Given the description of an element on the screen output the (x, y) to click on. 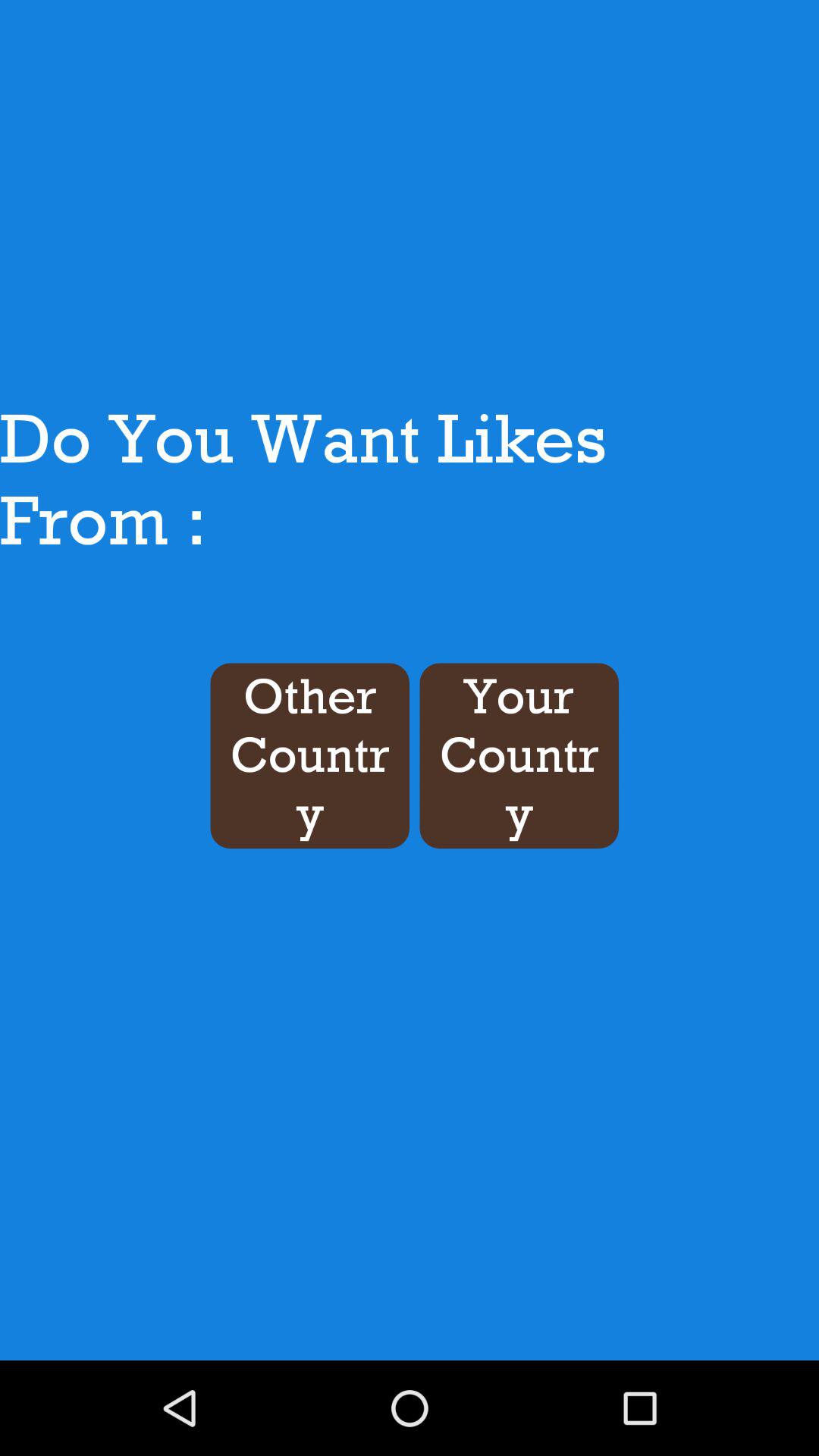
jump to the other country item (309, 755)
